Given the description of an element on the screen output the (x, y) to click on. 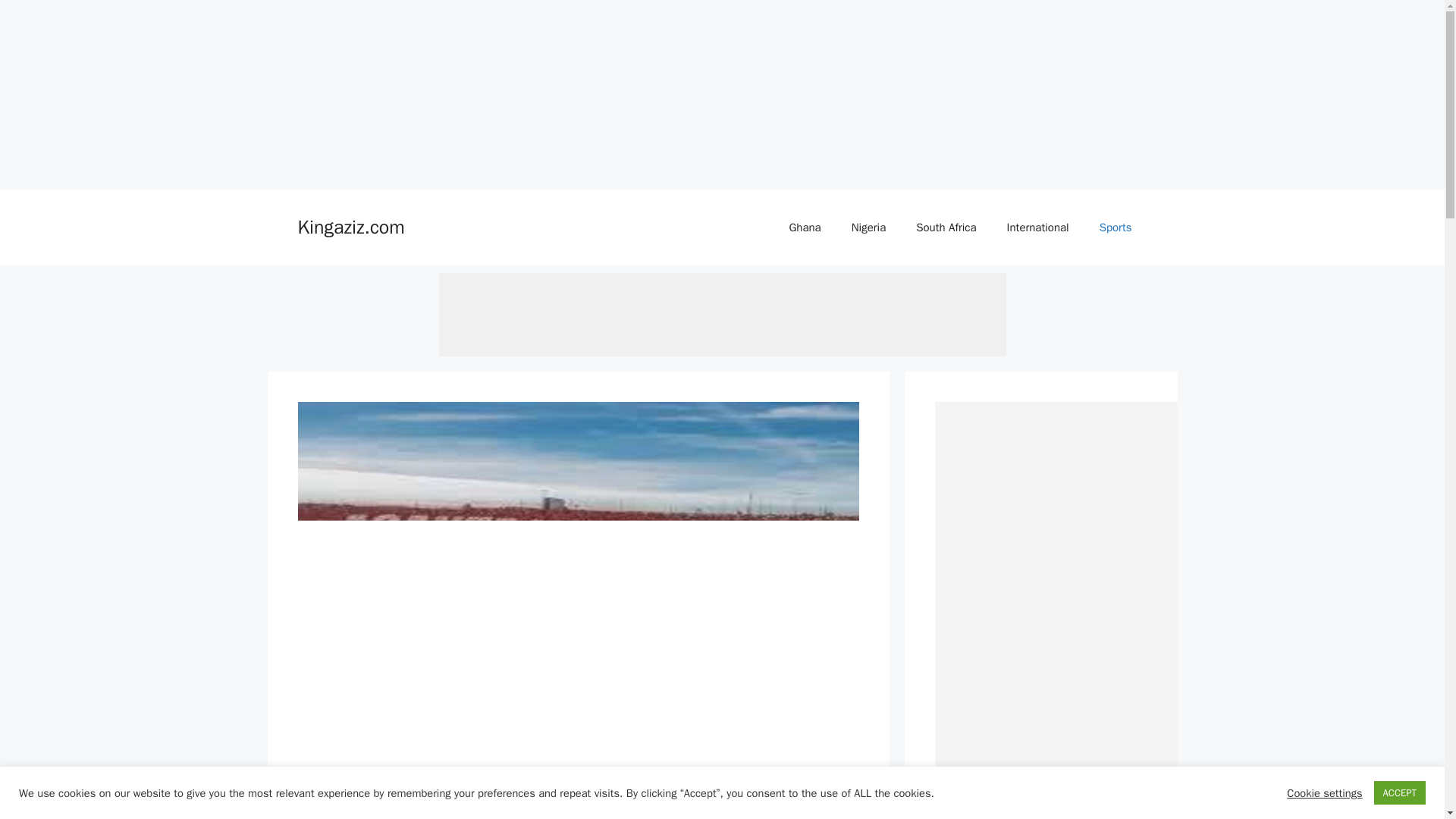
Cookie settings (1324, 792)
Ghana (804, 227)
Sports (1115, 227)
International (1037, 227)
Kingaziz.com (350, 227)
Nigeria (868, 227)
South Africa (946, 227)
ACCEPT (1399, 792)
